Given the description of an element on the screen output the (x, y) to click on. 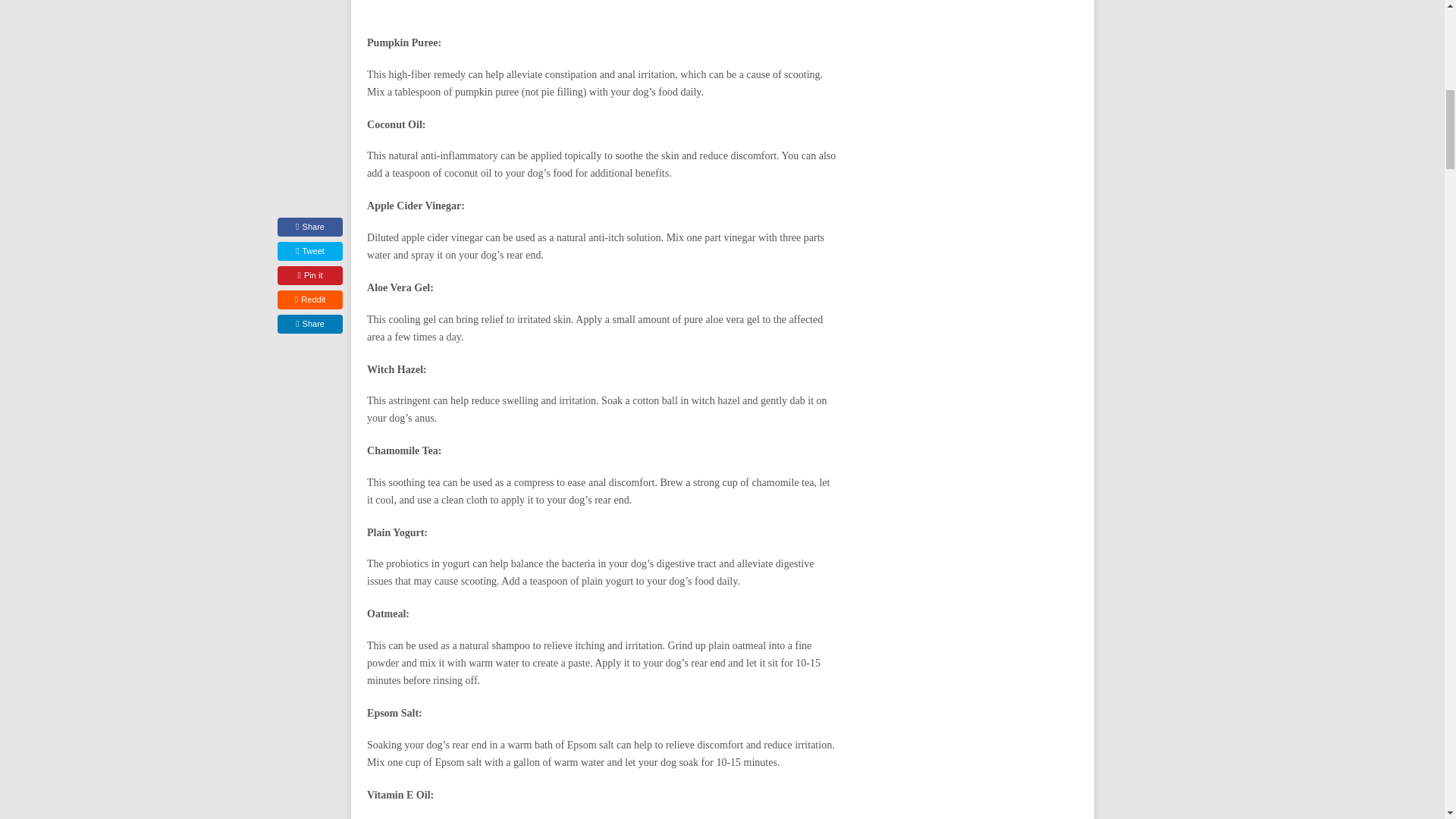
12 Effective Home Remedies For Dogs Scooting 1 (601, 6)
